Given the description of an element on the screen output the (x, y) to click on. 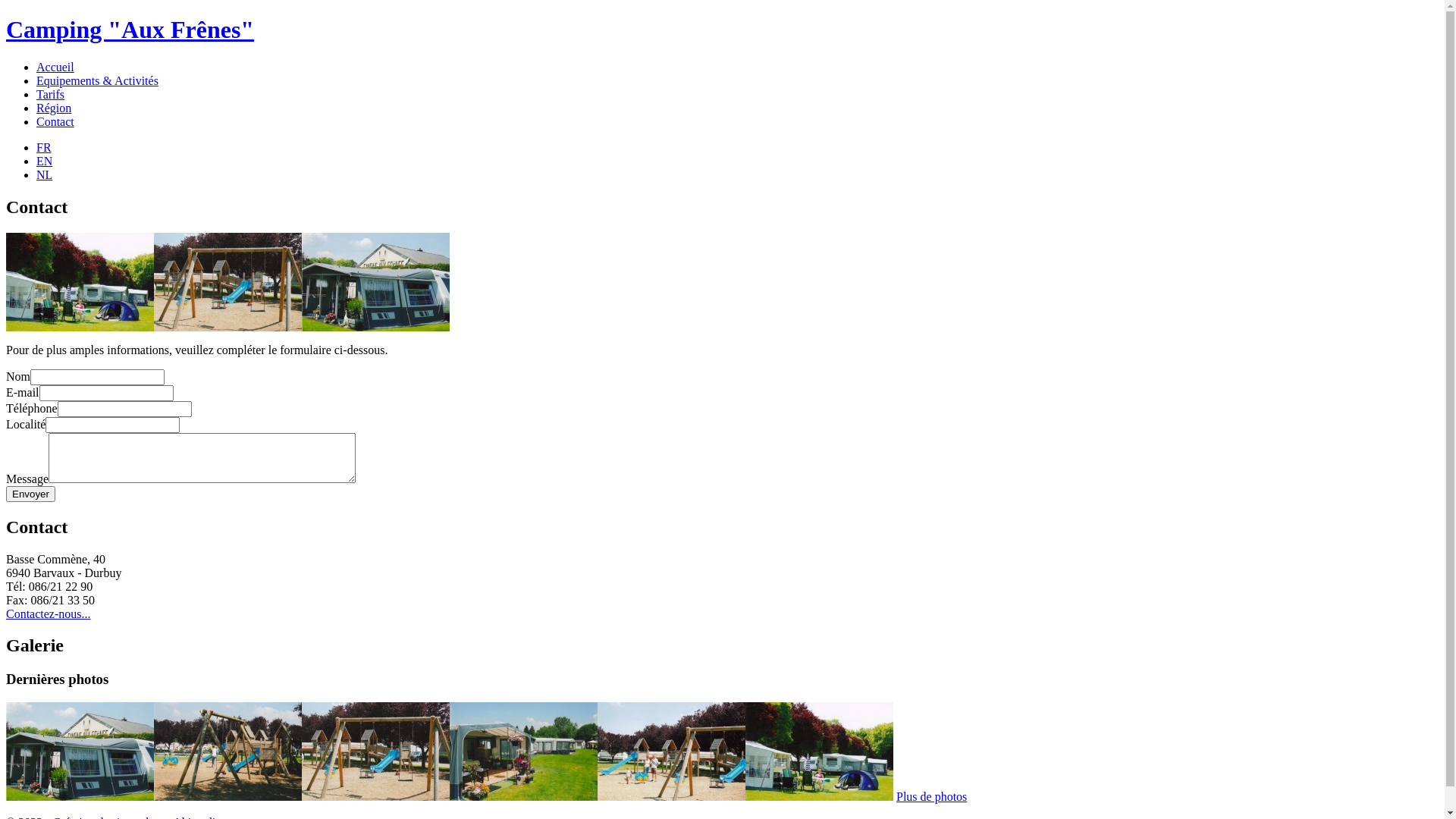
Tarifs Element type: text (50, 93)
FR Element type: text (43, 147)
Plaine de jeux Element type: hover (671, 796)
Aire de camping Element type: hover (79, 796)
Plus de photos Element type: text (931, 796)
Envoyer Element type: text (30, 494)
Aire de camping Element type: hover (375, 326)
Plaine de jeux Element type: hover (227, 326)
Plaine de jeux Element type: hover (375, 796)
Plaine de jeux Element type: hover (227, 796)
EN Element type: text (44, 160)
Aire de camping Element type: hover (79, 326)
Accueil Element type: text (55, 66)
Aire de camping Element type: hover (523, 796)
NL Element type: text (44, 174)
Aire de camping Element type: hover (819, 796)
Contactez-nous... Element type: text (48, 612)
Contact Element type: text (55, 121)
